Given the description of an element on the screen output the (x, y) to click on. 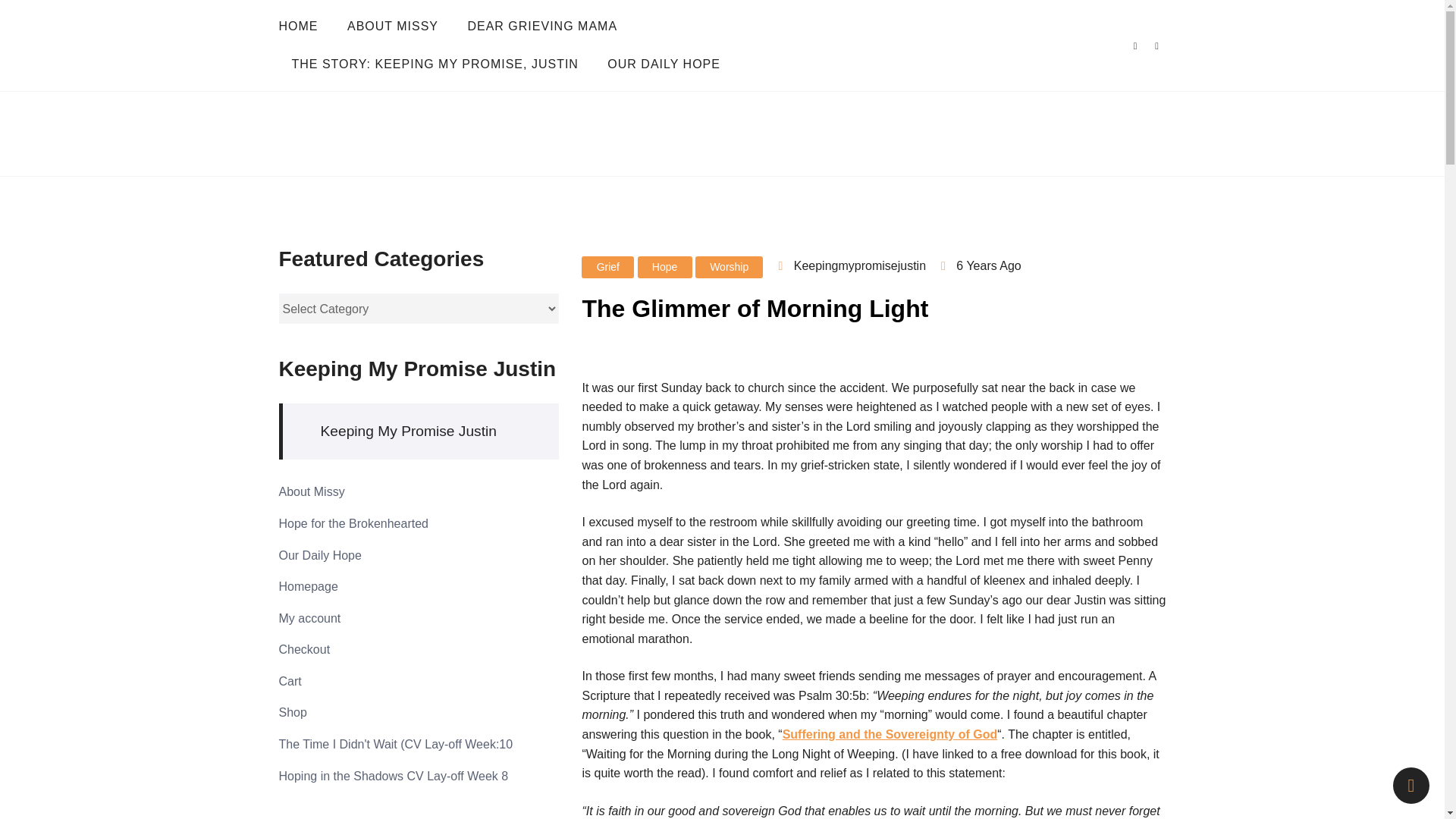
Hope (665, 267)
Keepingmypromisejustin (851, 266)
6 Years Ago (988, 265)
OUR DAILY HOPE (663, 64)
HOME (305, 26)
Worship (728, 267)
DEAR GRIEVING MAMA (542, 26)
THE STORY: KEEPING MY PROMISE, JUSTIN (435, 64)
ABOUT MISSY (392, 26)
Grief (606, 267)
Suffering and the Sovereignty of God (890, 734)
